Given the description of an element on the screen output the (x, y) to click on. 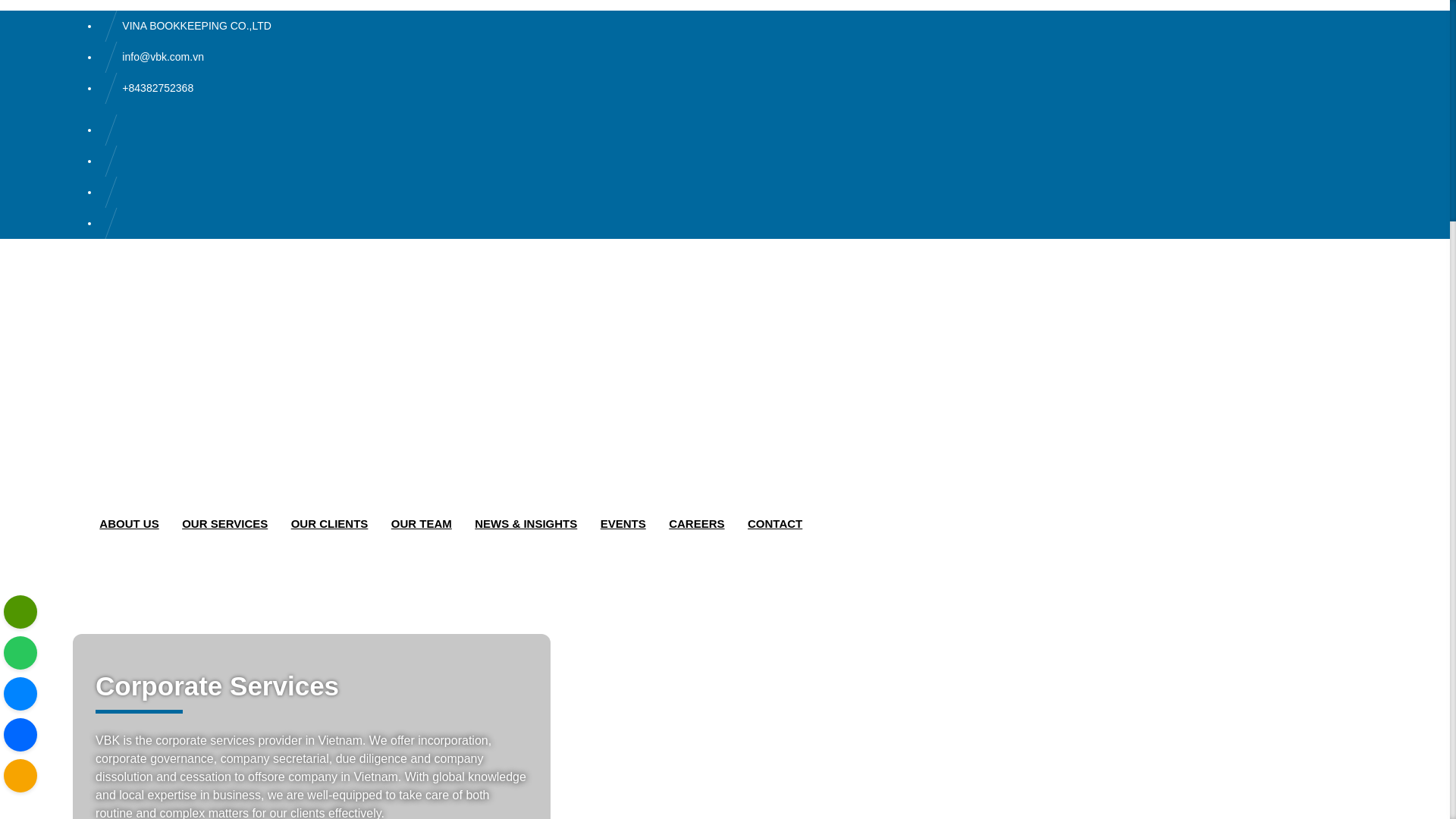
ABOUT US (133, 523)
EVENTS (623, 523)
OUR SERVICES (224, 523)
CAREERS (696, 523)
OUR CLIENTS (329, 523)
Vina Bookkeeping (182, 486)
CONTACT (775, 523)
Vina Bookkeeping (182, 367)
OUR TEAM (421, 523)
